Given the description of an element on the screen output the (x, y) to click on. 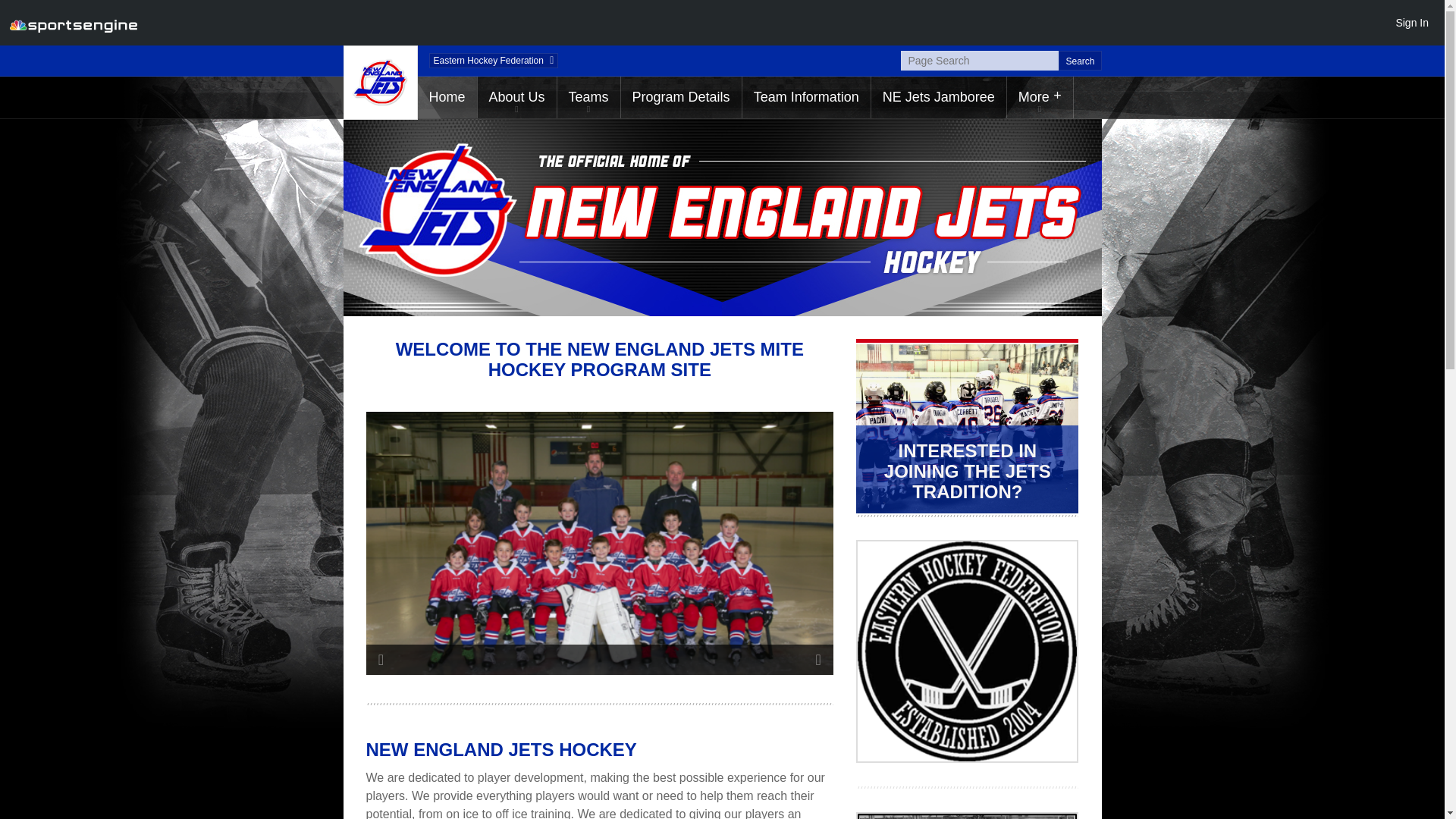
click to go to 'Home' (446, 96)
Home (446, 96)
More (1040, 96)
click to go to 'Teams' (588, 96)
click to go to 'Program Details ' (681, 96)
About Us (516, 96)
click to go to '2023 Team Information' (806, 96)
click to go to 'About Us' (516, 96)
Sign In (1411, 22)
Program Details (681, 96)
Team Information (806, 96)
Teams (588, 96)
NE Jets Jamboree (938, 96)
SportsEngine (73, 22)
click to go to 'NEJetsJamboree' (938, 96)
